Given the description of an element on the screen output the (x, y) to click on. 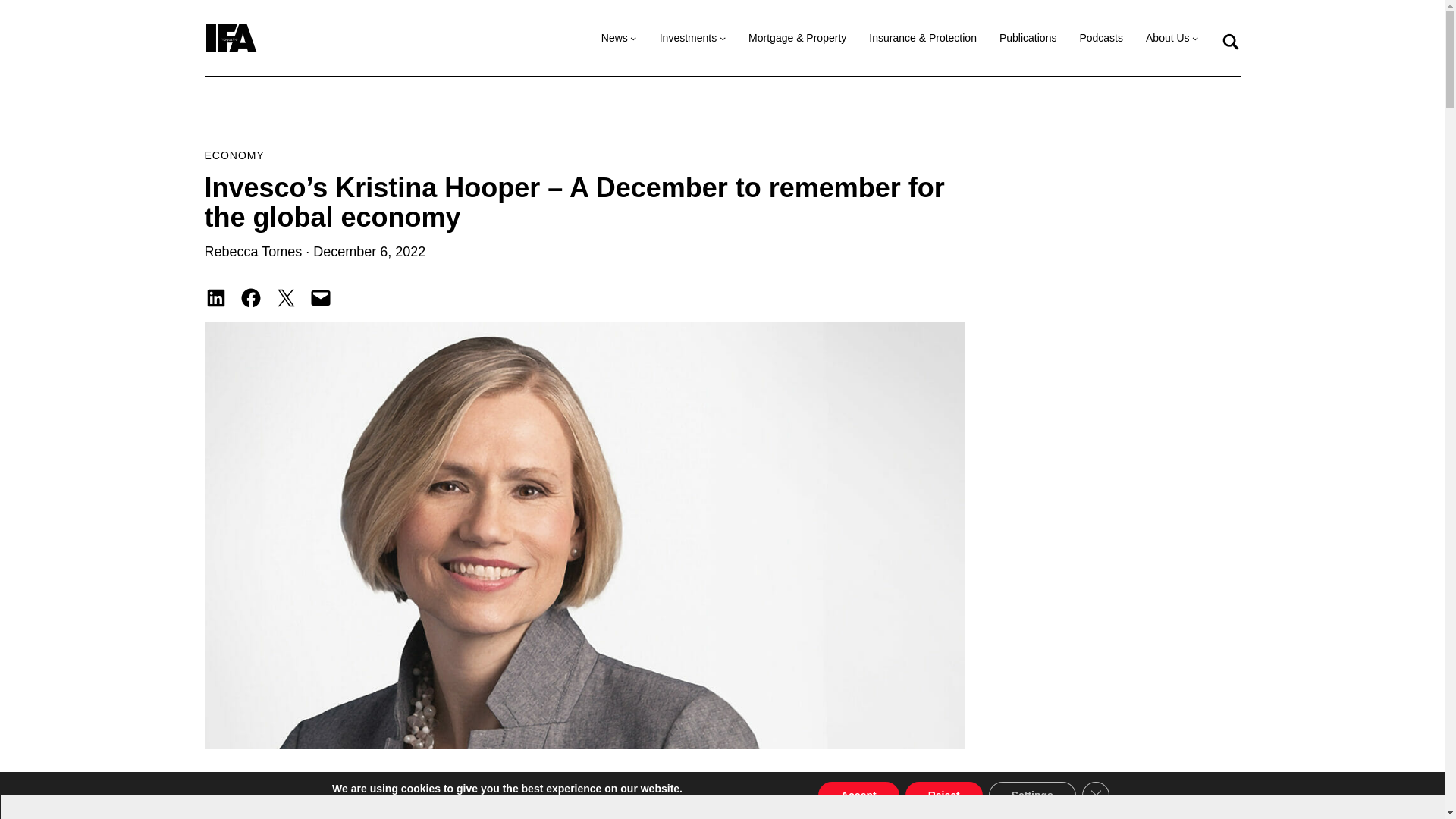
Rebecca Tomes (253, 251)
News (614, 37)
Email this Page (319, 297)
About Us (1167, 37)
Share on LinkedIn (216, 297)
Share on X (286, 297)
Share on Facebook (251, 297)
Investments (687, 37)
Publications (1027, 37)
ECONOMY (234, 155)
Podcasts (1100, 37)
